Given the description of an element on the screen output the (x, y) to click on. 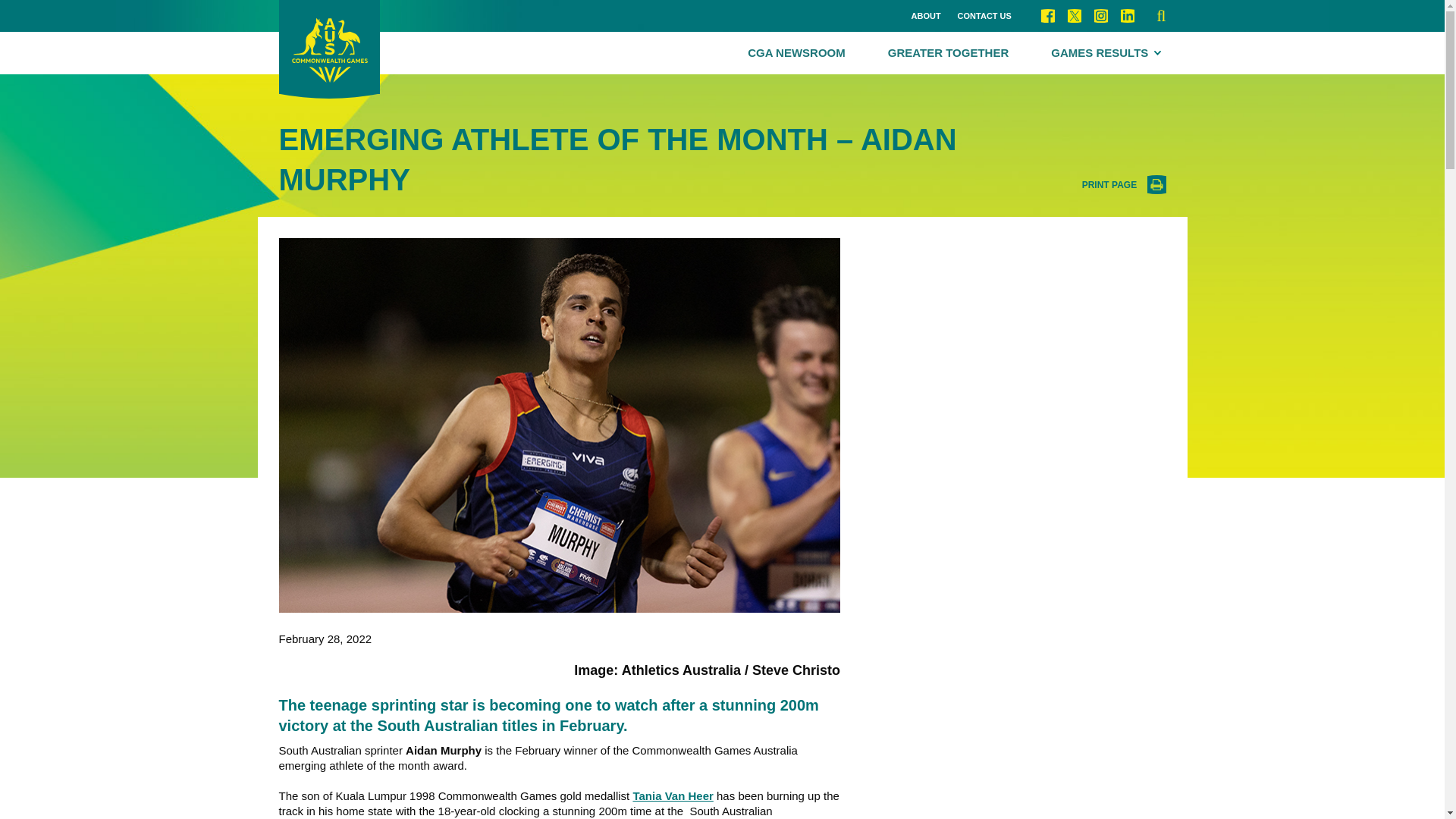
PRINT PAGE (1123, 185)
Tania Van Heer (672, 795)
CGA NEWSROOM (796, 52)
Commonwealth Games Australia (329, 49)
CONTACT US (984, 16)
GREATER TOGETHER (948, 52)
ABOUT (925, 16)
GAMES RESULTS (1105, 52)
